Given the description of an element on the screen output the (x, y) to click on. 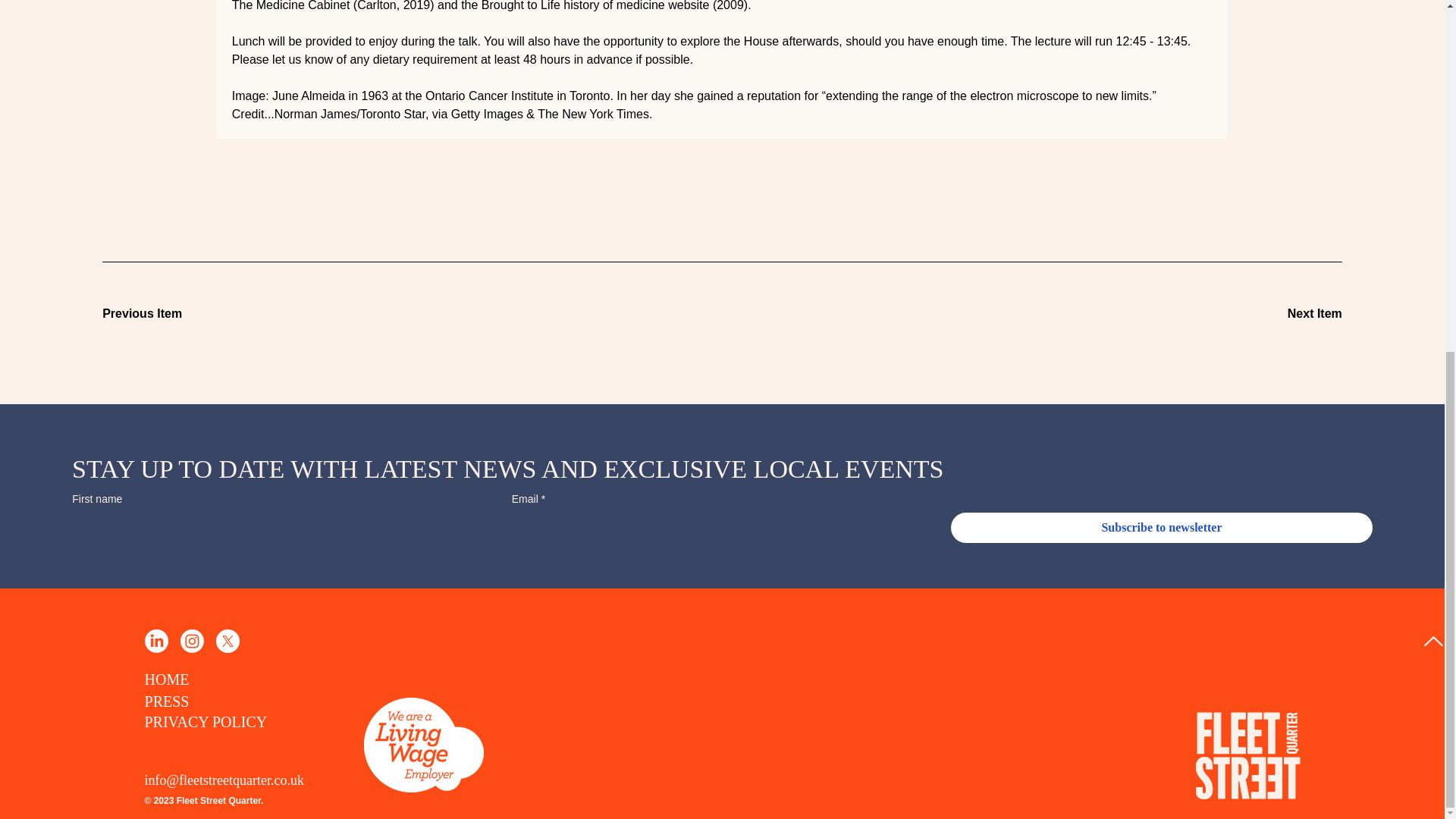
Subscribe to newsletter (1161, 527)
Next Item (1288, 313)
PRIVACY POLICY (205, 721)
HOME (166, 678)
Previous Item (155, 313)
